Given the description of an element on the screen output the (x, y) to click on. 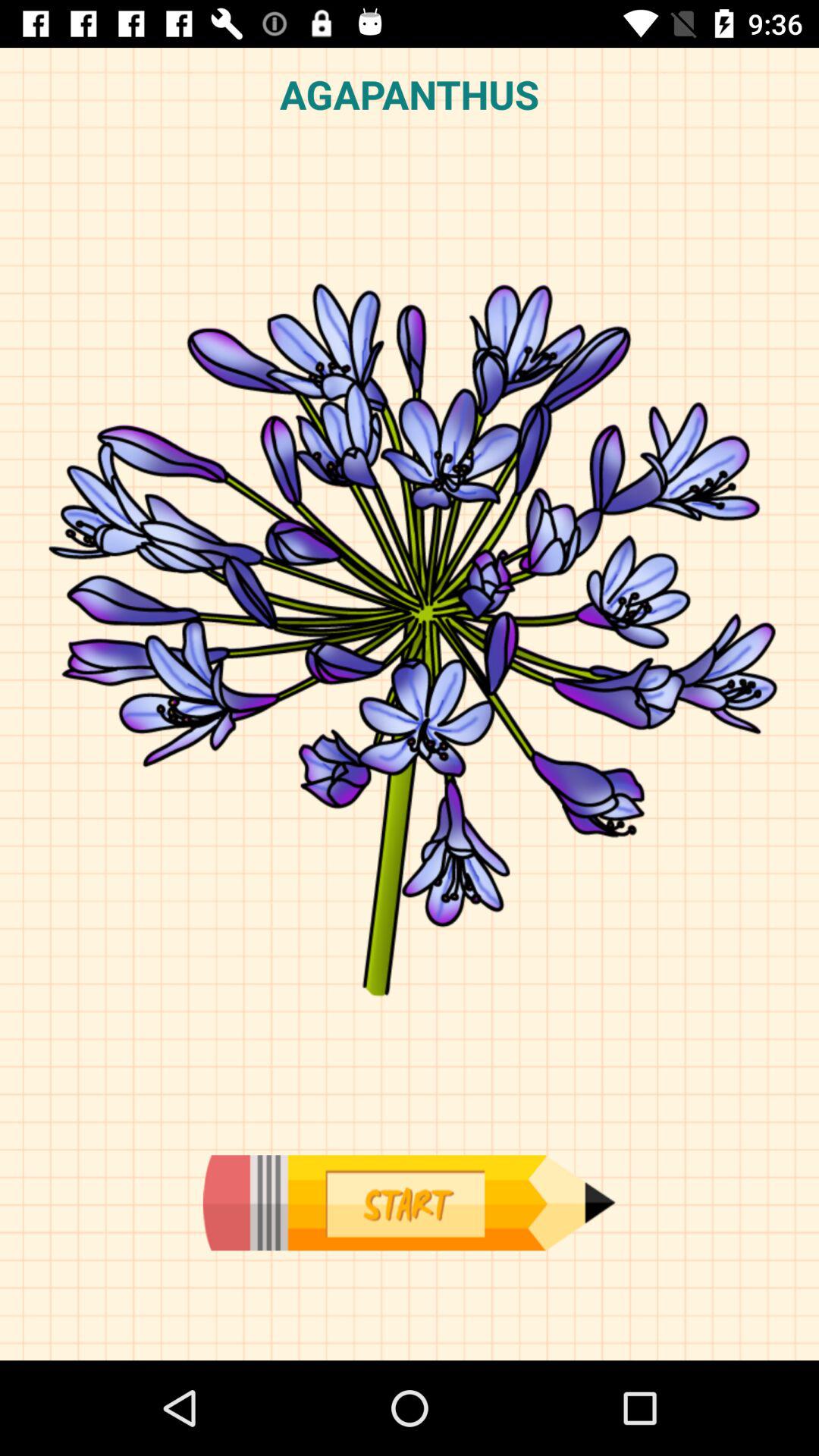
draw (409, 1202)
